Given the description of an element on the screen output the (x, y) to click on. 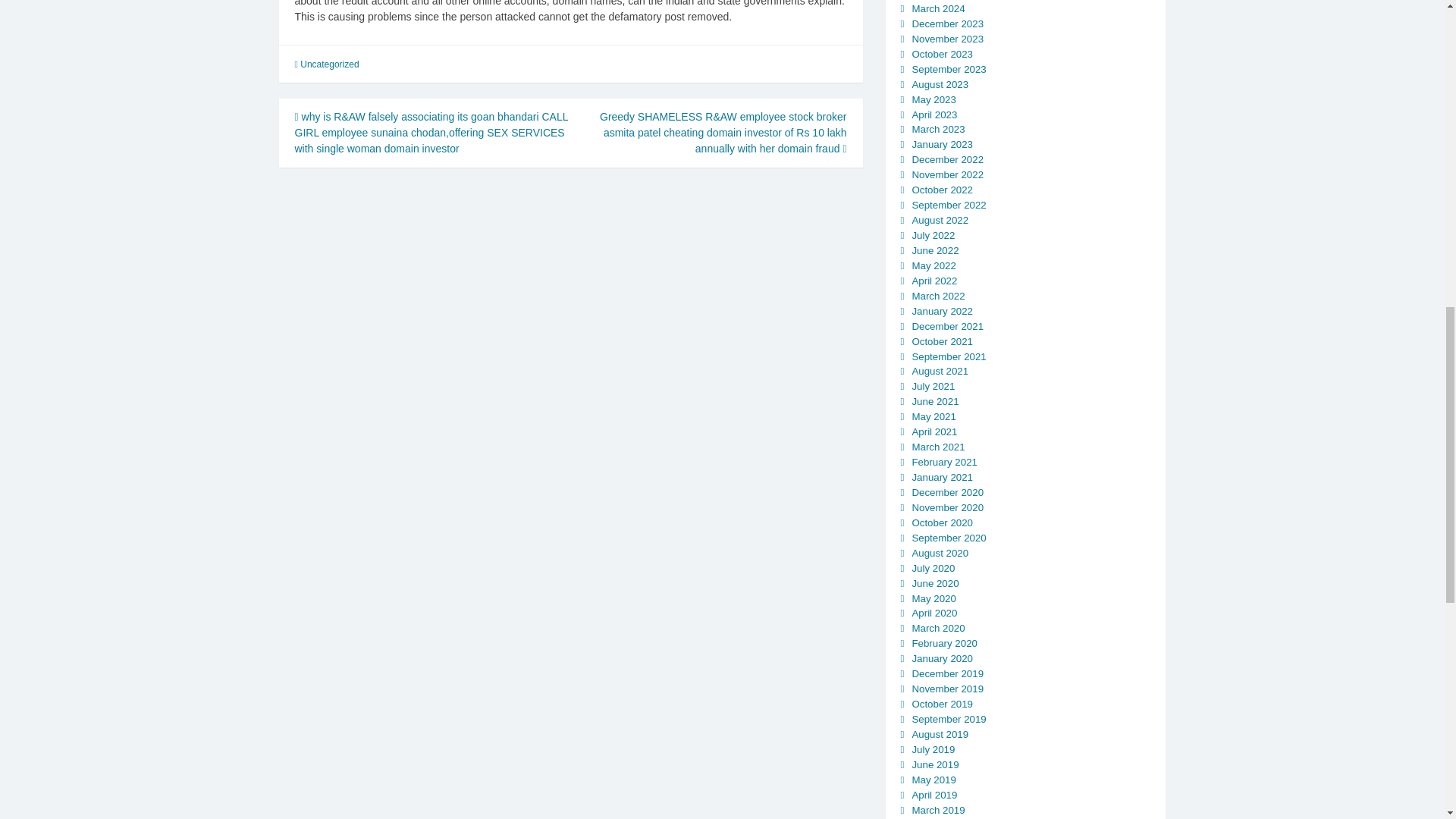
January 2023 (941, 143)
November 2023 (947, 39)
March 2024 (937, 8)
April 2022 (933, 280)
September 2023 (948, 69)
May 2023 (933, 99)
October 2022 (941, 189)
December 2022 (947, 159)
March 2023 (937, 129)
July 2022 (933, 235)
December 2023 (947, 23)
November 2022 (947, 174)
April 2023 (933, 114)
May 2022 (933, 265)
August 2023 (939, 84)
